Given the description of an element on the screen output the (x, y) to click on. 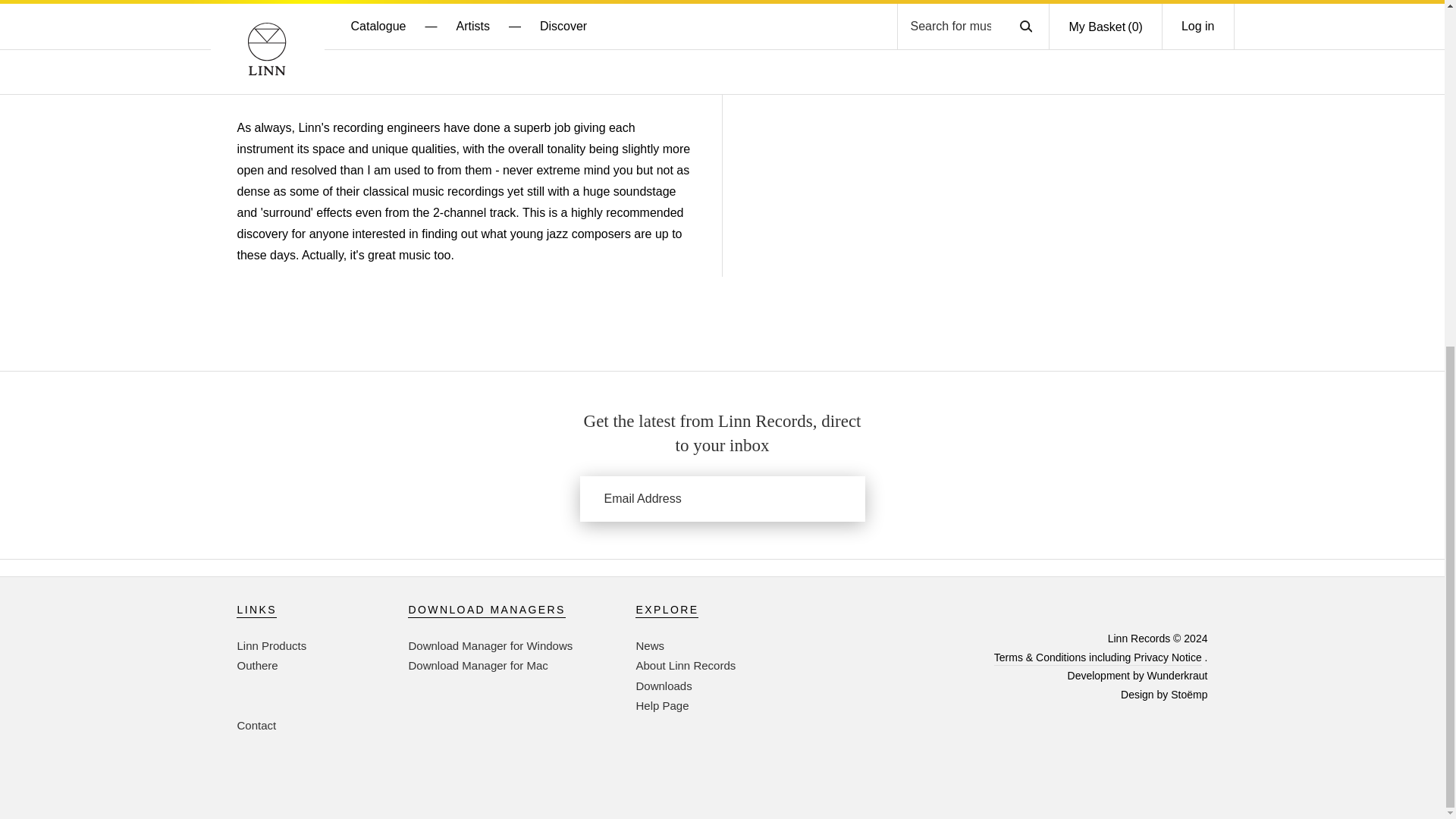
Downloads (662, 685)
youtube (1201, 609)
Submit (833, 498)
Outhere (256, 665)
Contact (255, 725)
Keep up to Date With all our News (648, 645)
Learn More About Downloads and Studio Master (662, 685)
About Linn Records (684, 665)
Submit (833, 498)
facebook (1161, 609)
Download Manager for Windows (489, 645)
Download Manager for Mac (477, 665)
Linn Products (270, 645)
Find an Answer to Your Question Here (661, 705)
Help Page (661, 705)
